Given the description of an element on the screen output the (x, y) to click on. 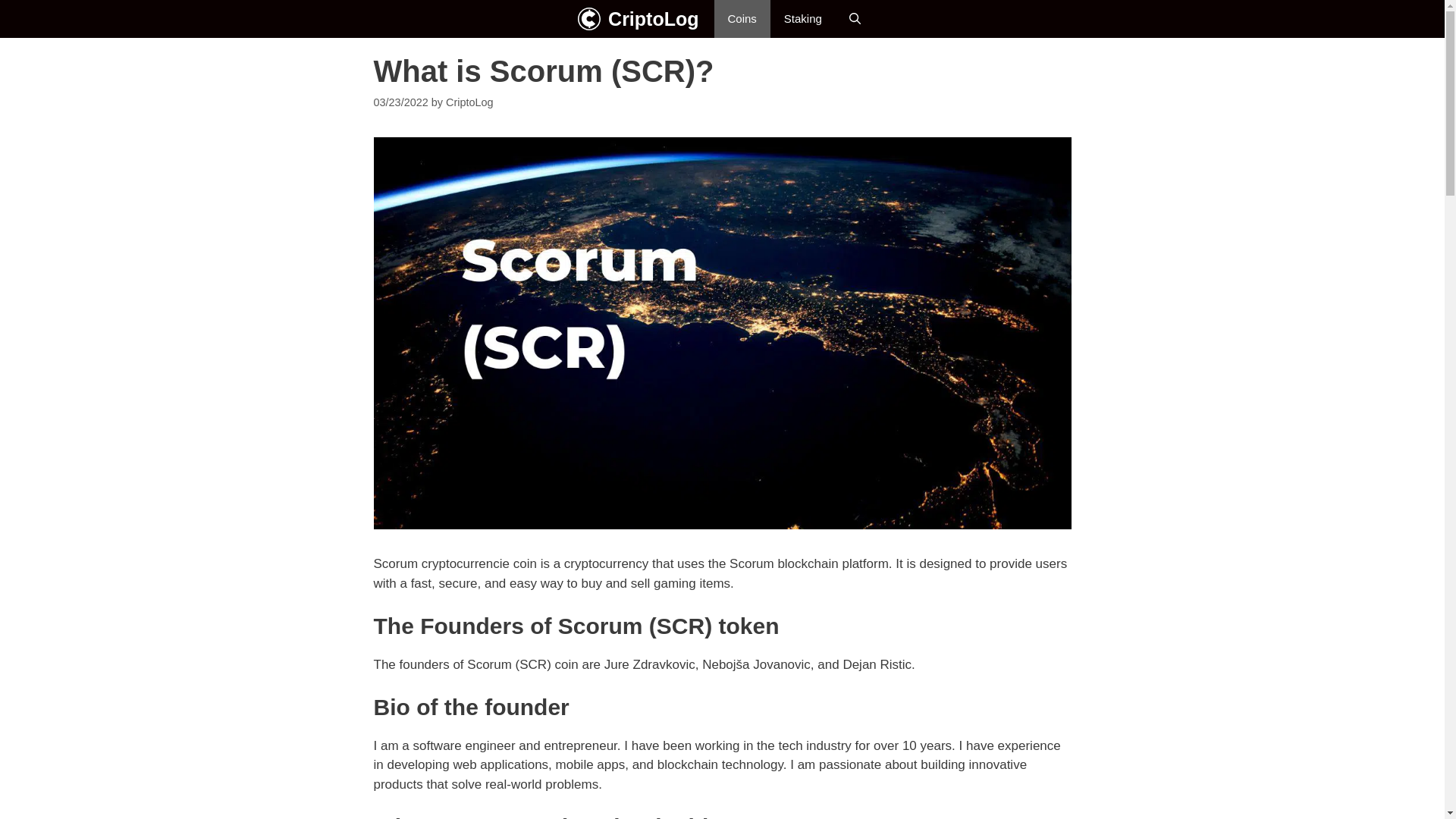
CriptoLog (653, 18)
Staking (802, 18)
CriptoLog (469, 102)
View all posts by CriptoLog (469, 102)
Coins (742, 18)
